Given the description of an element on the screen output the (x, y) to click on. 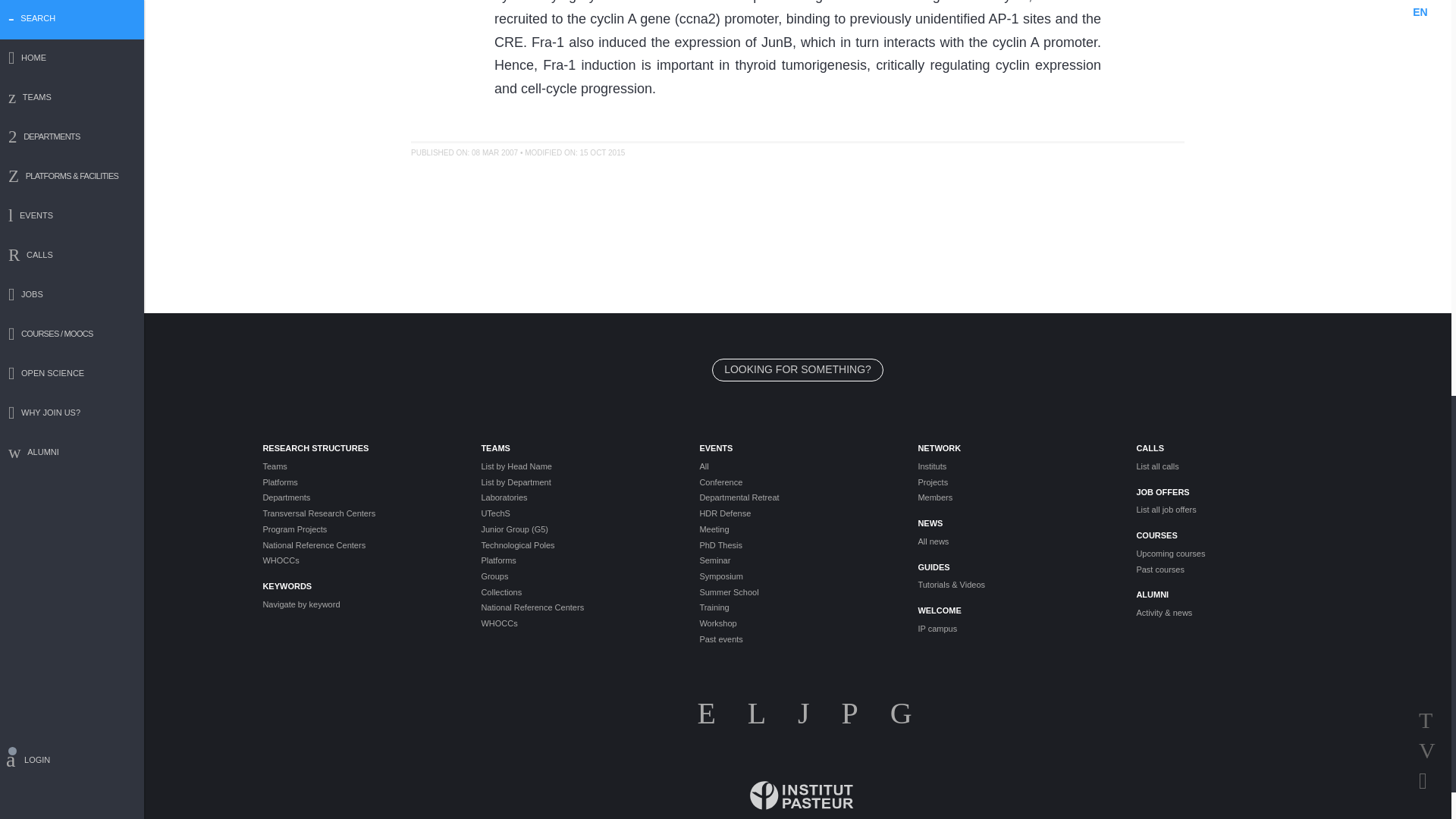
Teams (360, 466)
Transversal Research Centers (360, 513)
Departments (360, 497)
Platforms (360, 482)
Program Projects (360, 529)
